Given the description of an element on the screen output the (x, y) to click on. 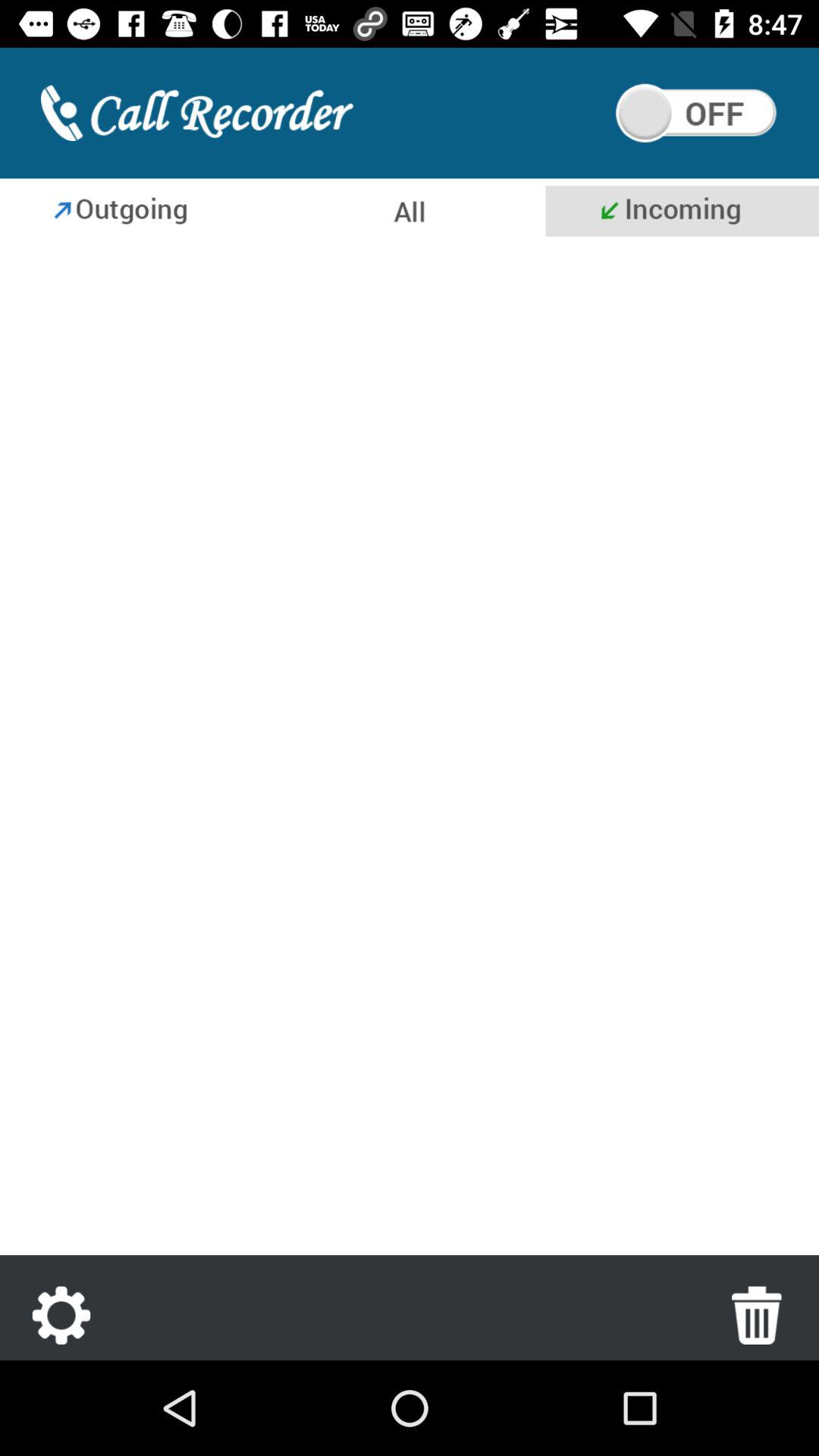
on off toggle (696, 112)
